Given the description of an element on the screen output the (x, y) to click on. 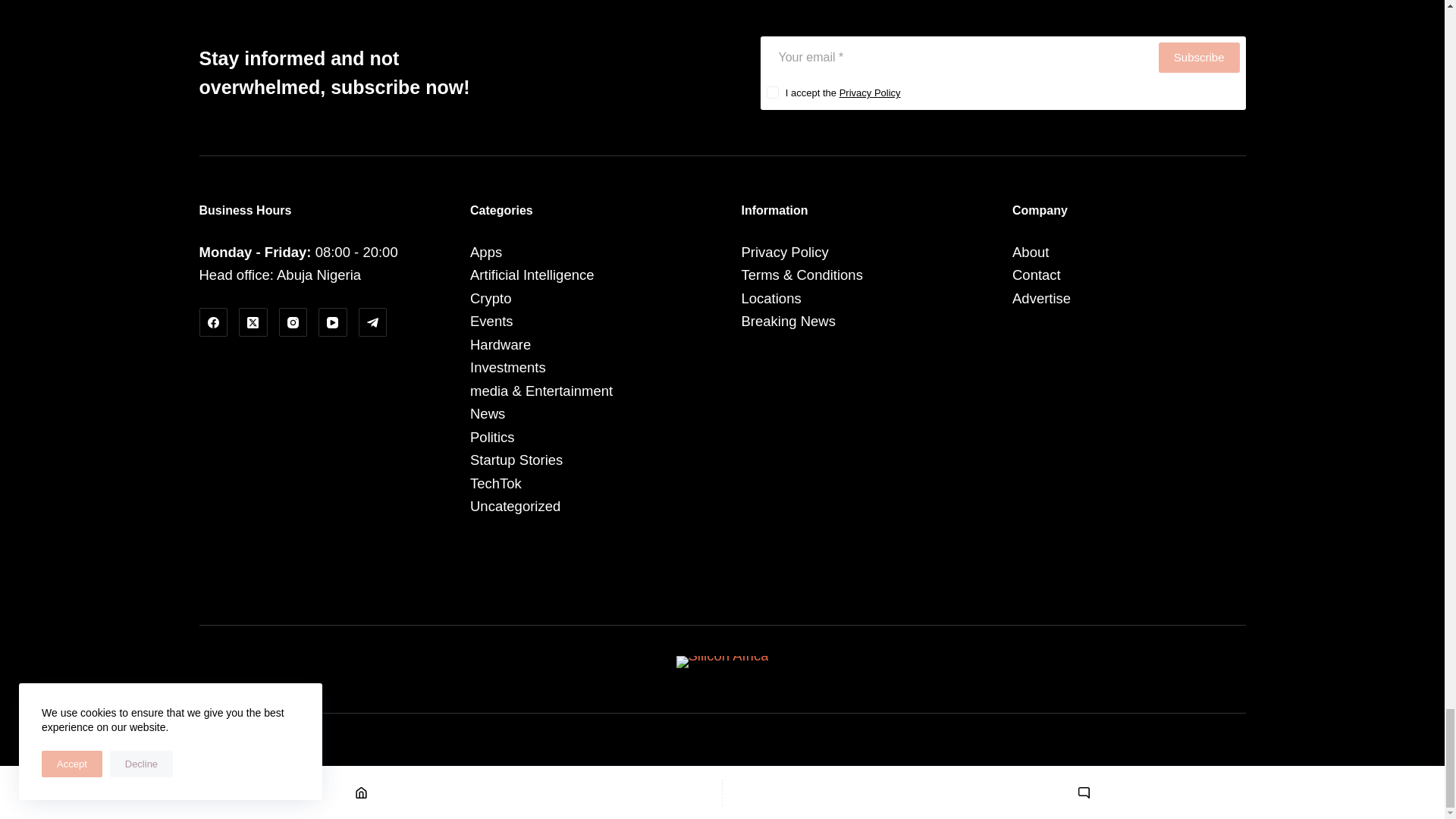
Email (957, 57)
on (771, 92)
